Given the description of an element on the screen output the (x, y) to click on. 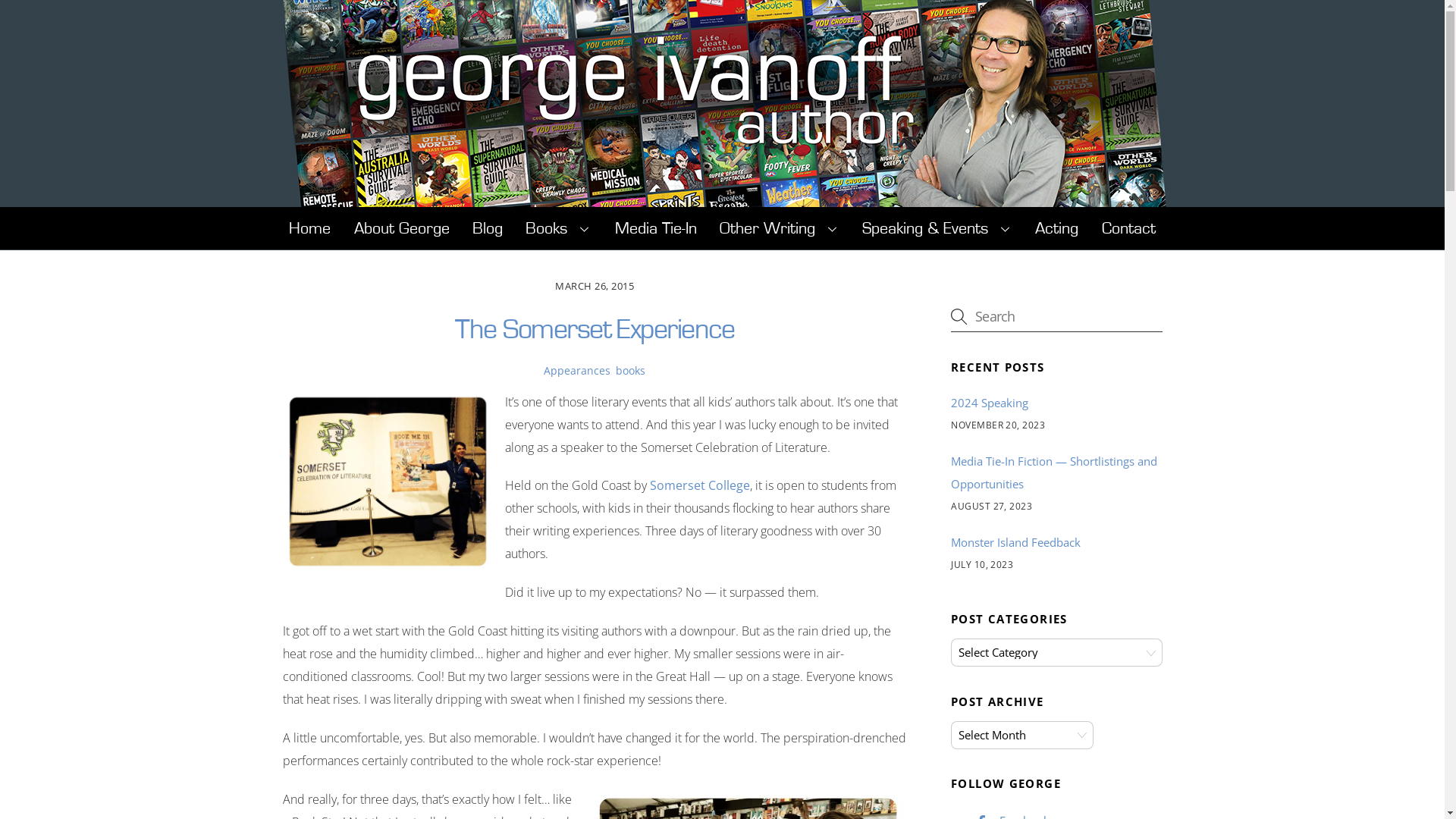
About George Element type: text (400, 228)
2024 Speaking Element type: text (989, 402)
books Element type: text (630, 370)
Somerset College Element type: text (699, 484)
Appearances Element type: text (576, 370)
Search Element type: hover (1055, 316)
Home Element type: text (309, 228)
Blog Element type: text (487, 228)
Monster Island Feedback Element type: text (1015, 541)
Speaking & Events Element type: text (937, 228)
Books Element type: text (558, 228)
book Element type: hover (387, 481)
Acting Element type: text (1056, 228)
Media Tie-In Element type: text (655, 228)
Other Writing Element type: text (779, 228)
Contact Element type: text (1128, 228)
